Given the description of an element on the screen output the (x, y) to click on. 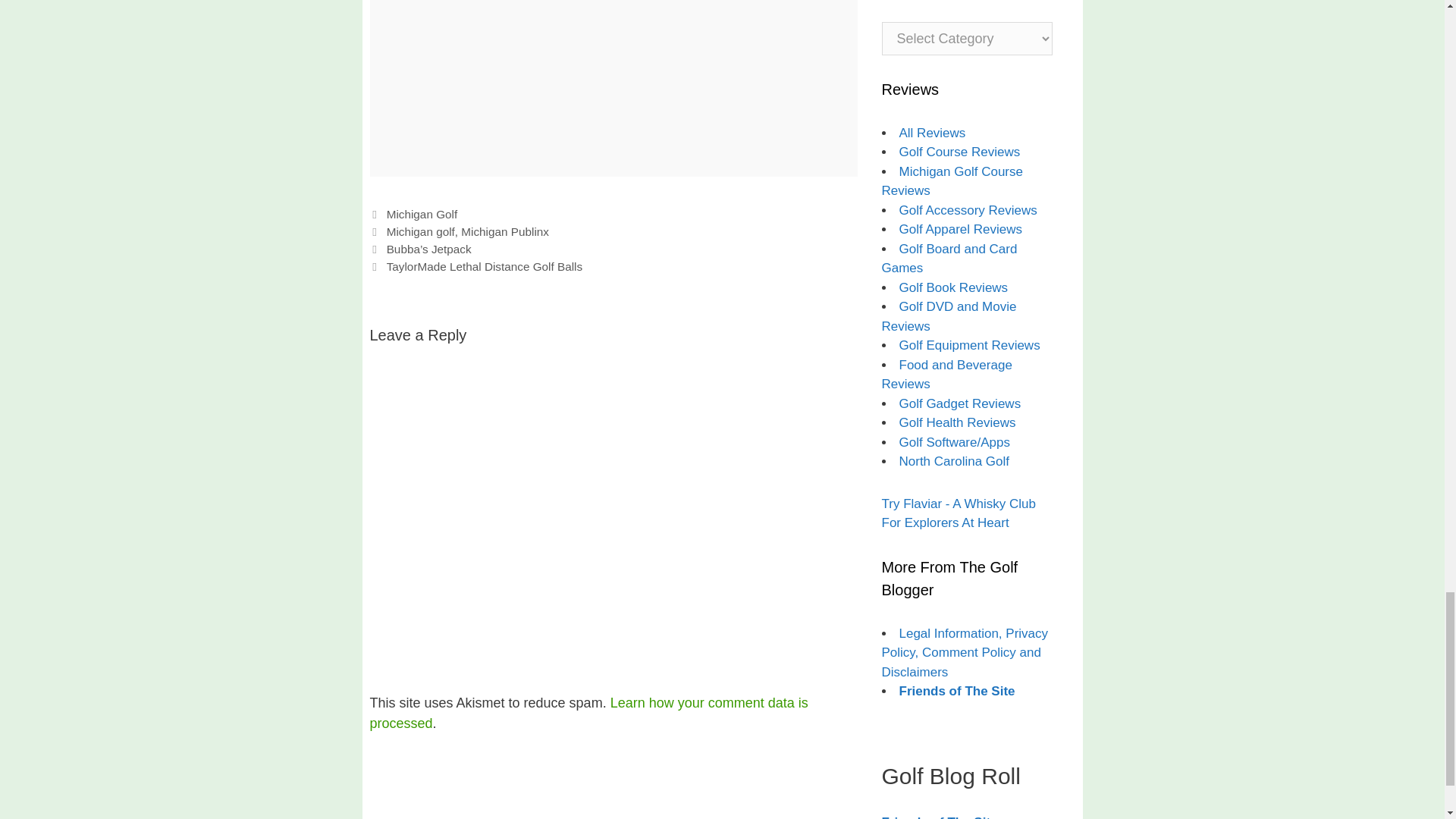
Learn how your comment data is processed (588, 713)
Michigan Golf (422, 214)
Michigan golf (420, 231)
Michigan Publinx (504, 231)
TaylorMade Lethal Distance Golf Balls (484, 266)
